Given the description of an element on the screen output the (x, y) to click on. 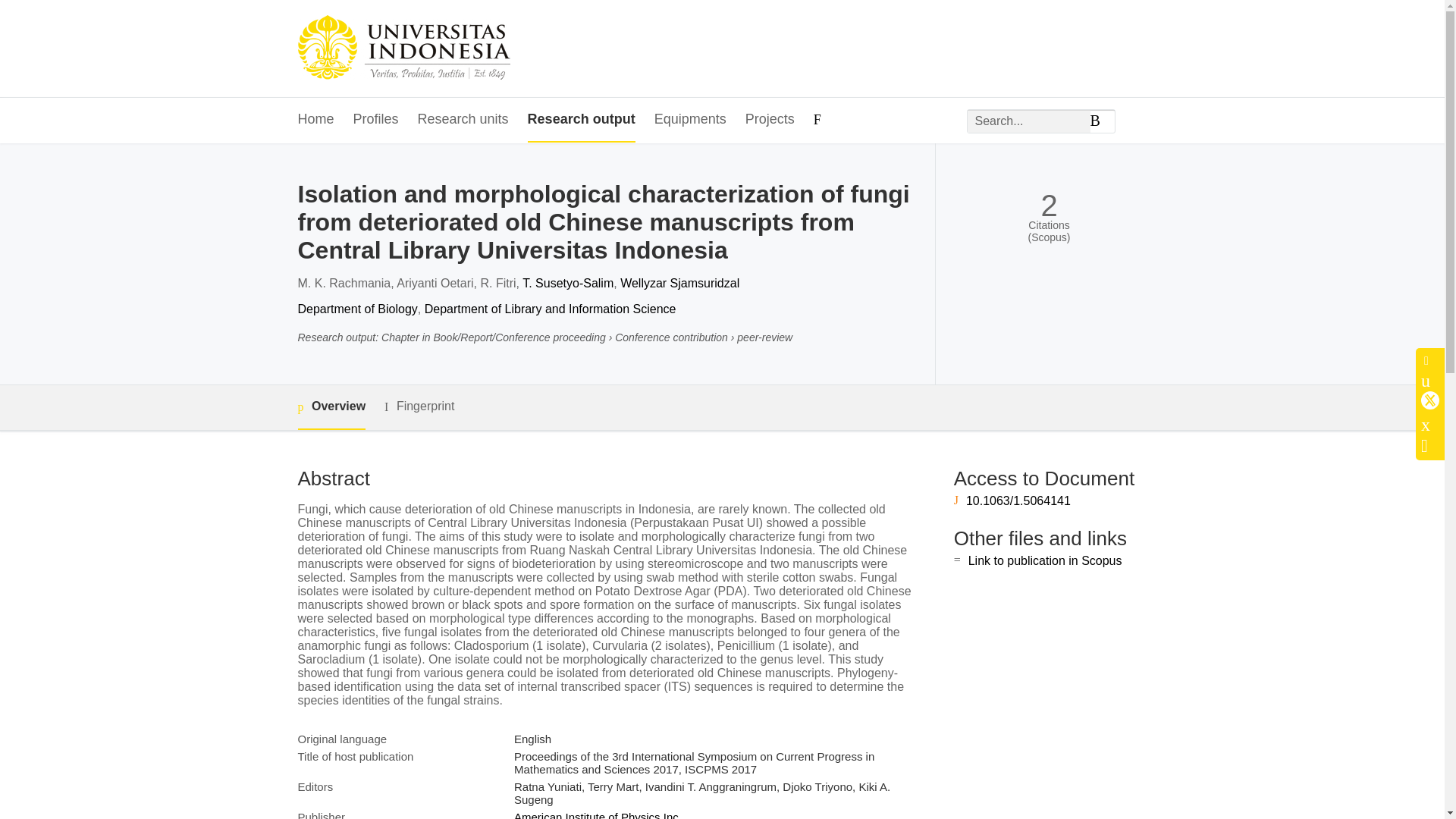
Link to publication in Scopus (1045, 560)
Fingerprint (419, 406)
Profiles (375, 119)
Equipments (689, 119)
Wellyzar Sjamsuridzal (679, 282)
American Institute of Physics Inc. (597, 814)
Universitas Indonesia Home (403, 48)
T. Susetyo-Salim (567, 282)
Department of Biology (356, 308)
